Given the description of an element on the screen output the (x, y) to click on. 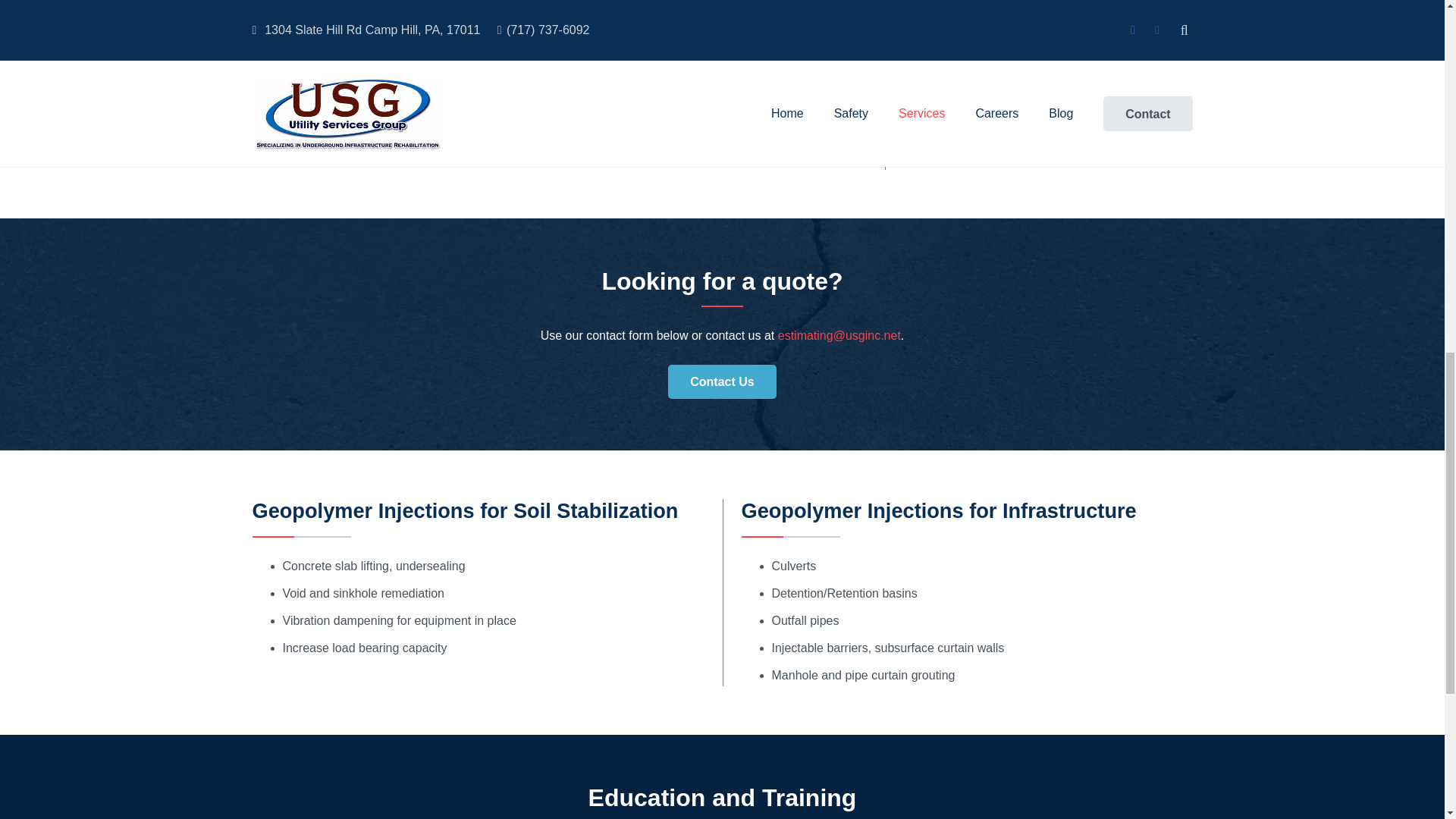
Pool Deck Leveling (1048, 33)
Sidewalk Leveling (1048, 7)
Back to top (1413, 30)
